Given the description of an element on the screen output the (x, y) to click on. 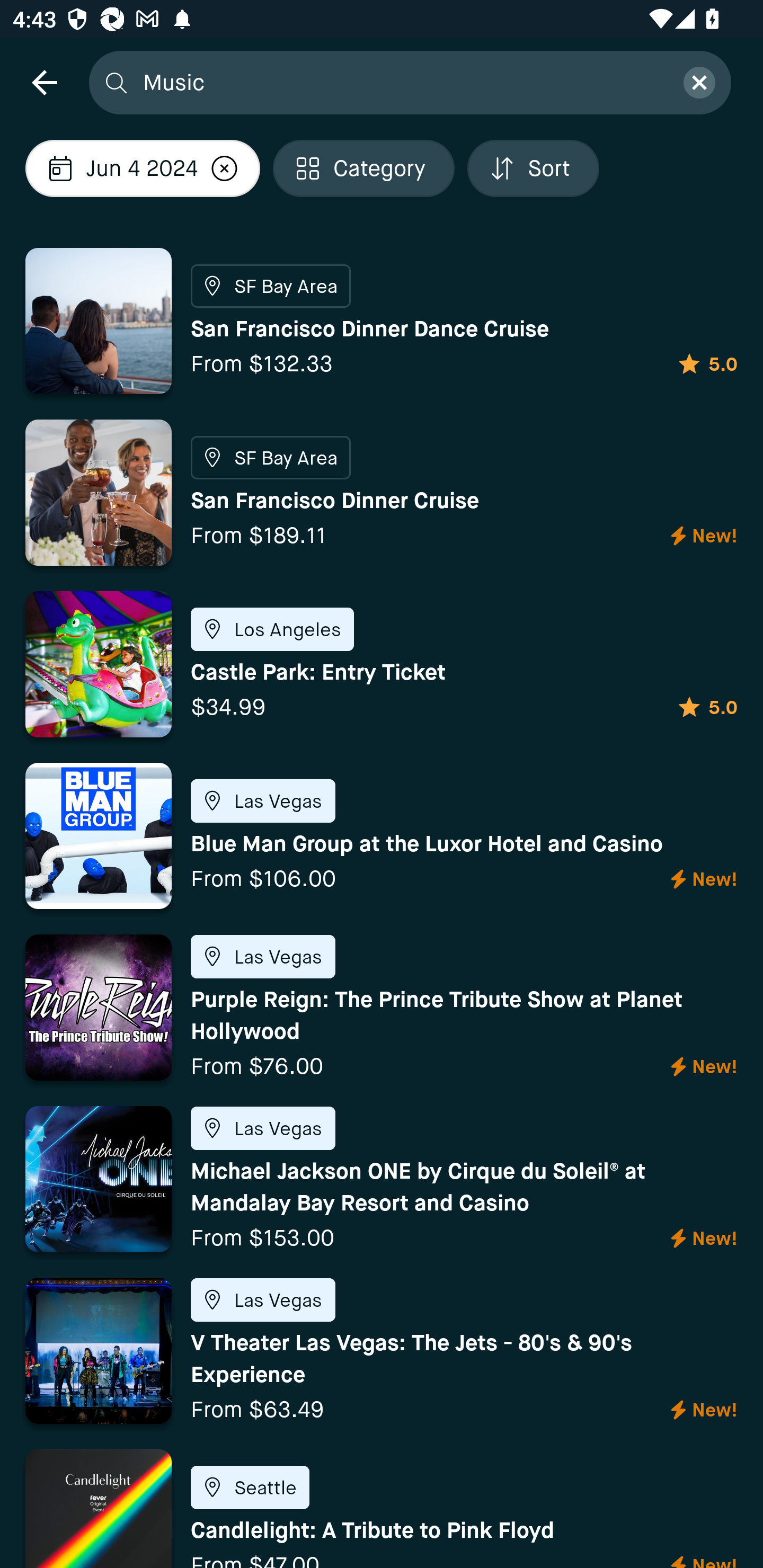
navigation icon (44, 81)
Music (402, 81)
Localized description (224, 168)
Localized description Category (363, 168)
Localized description Sort (532, 168)
